Given the description of an element on the screen output the (x, y) to click on. 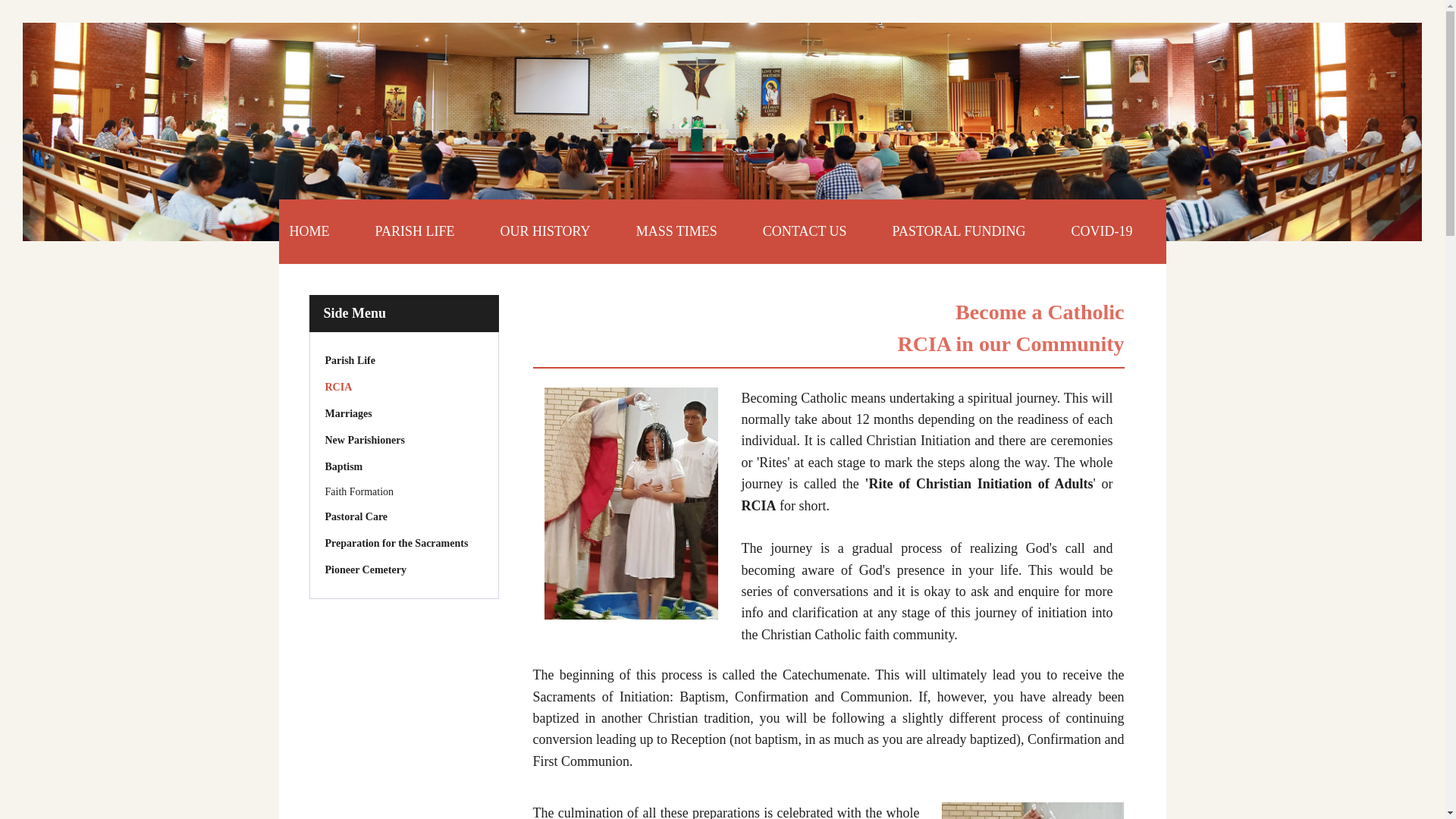
Preparation for the Sacraments (402, 542)
PASTORAL FUNDING (958, 231)
Baptism (402, 466)
OUR HISTORY (544, 231)
Pastoral Care (402, 516)
Marriages (402, 413)
CONTACT US (804, 231)
New Parishioners (402, 439)
MASS TIMES (675, 231)
HOME (320, 231)
PARISH LIFE (414, 231)
Pioneer Cemetery (402, 569)
COVID-19 (1101, 231)
RCIA (402, 386)
Parish Life (402, 360)
